Given the description of an element on the screen output the (x, y) to click on. 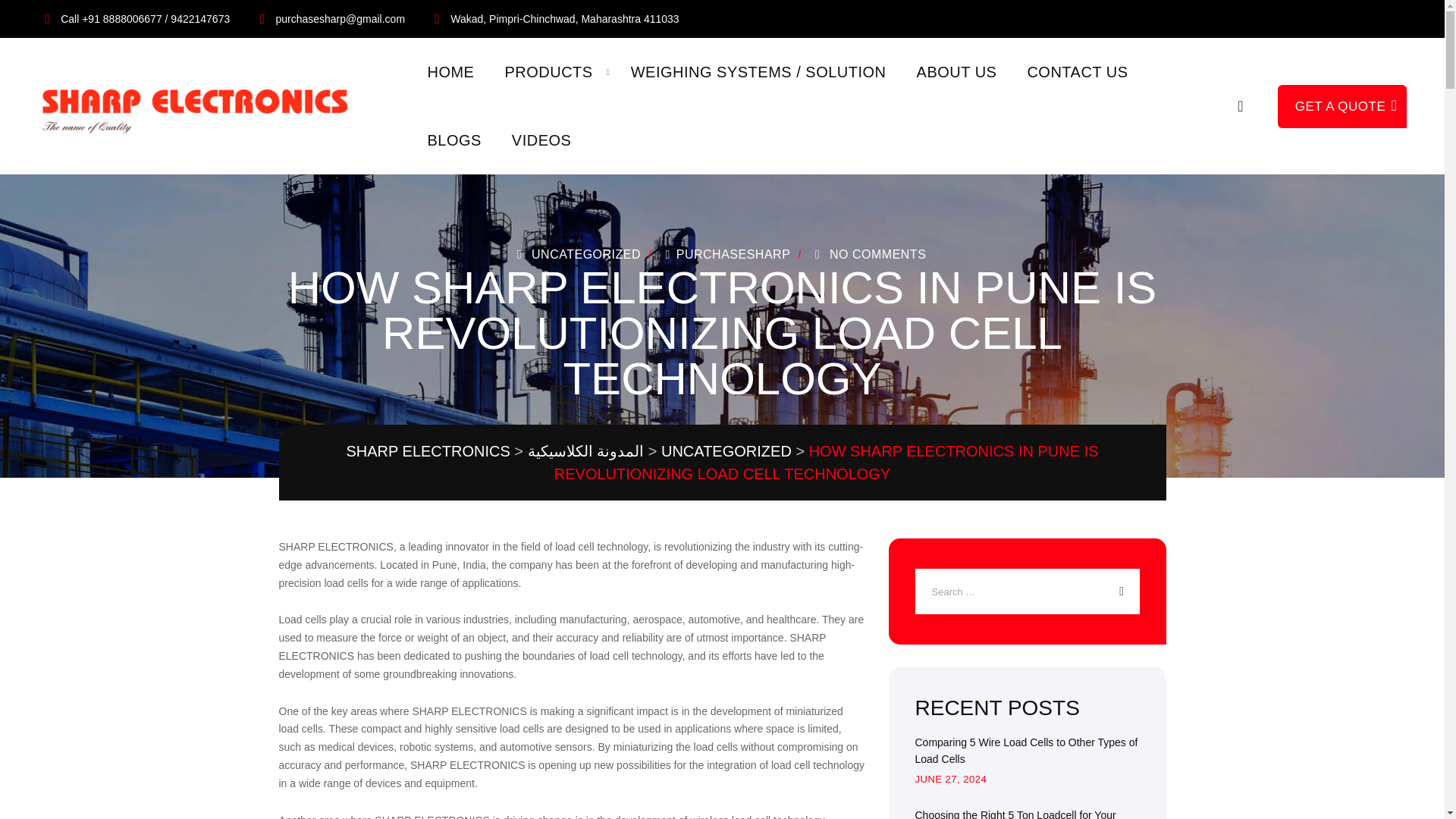
VIDEOS (542, 140)
HOME (450, 71)
Go to Sharp Electronics. (427, 451)
SHARP ELECTRONICS (427, 451)
Sharp Electronics (201, 105)
GET A QUOTE (1342, 106)
PRODUCTS (547, 71)
ABOUT US (957, 71)
Search (1240, 105)
CONTACT US (1076, 71)
UNCATEGORIZED (585, 254)
BLOGS (453, 140)
PURCHASESHARP (724, 254)
Go to the Uncategorized Category archives. (726, 451)
